Given the description of an element on the screen output the (x, y) to click on. 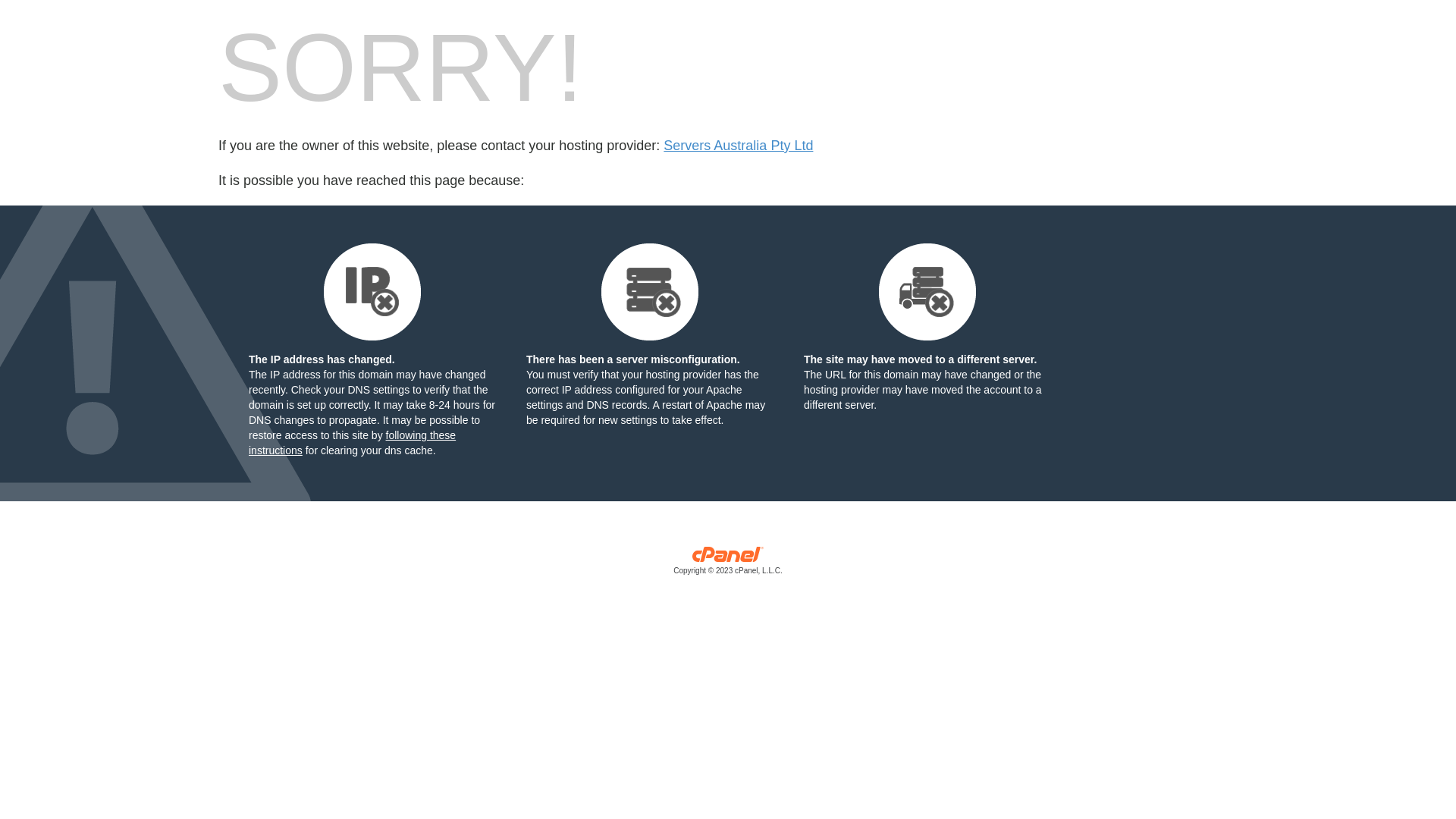
Servers Australia Pty Ltd Element type: text (737, 145)
following these instructions Element type: text (351, 442)
